Given the description of an element on the screen output the (x, y) to click on. 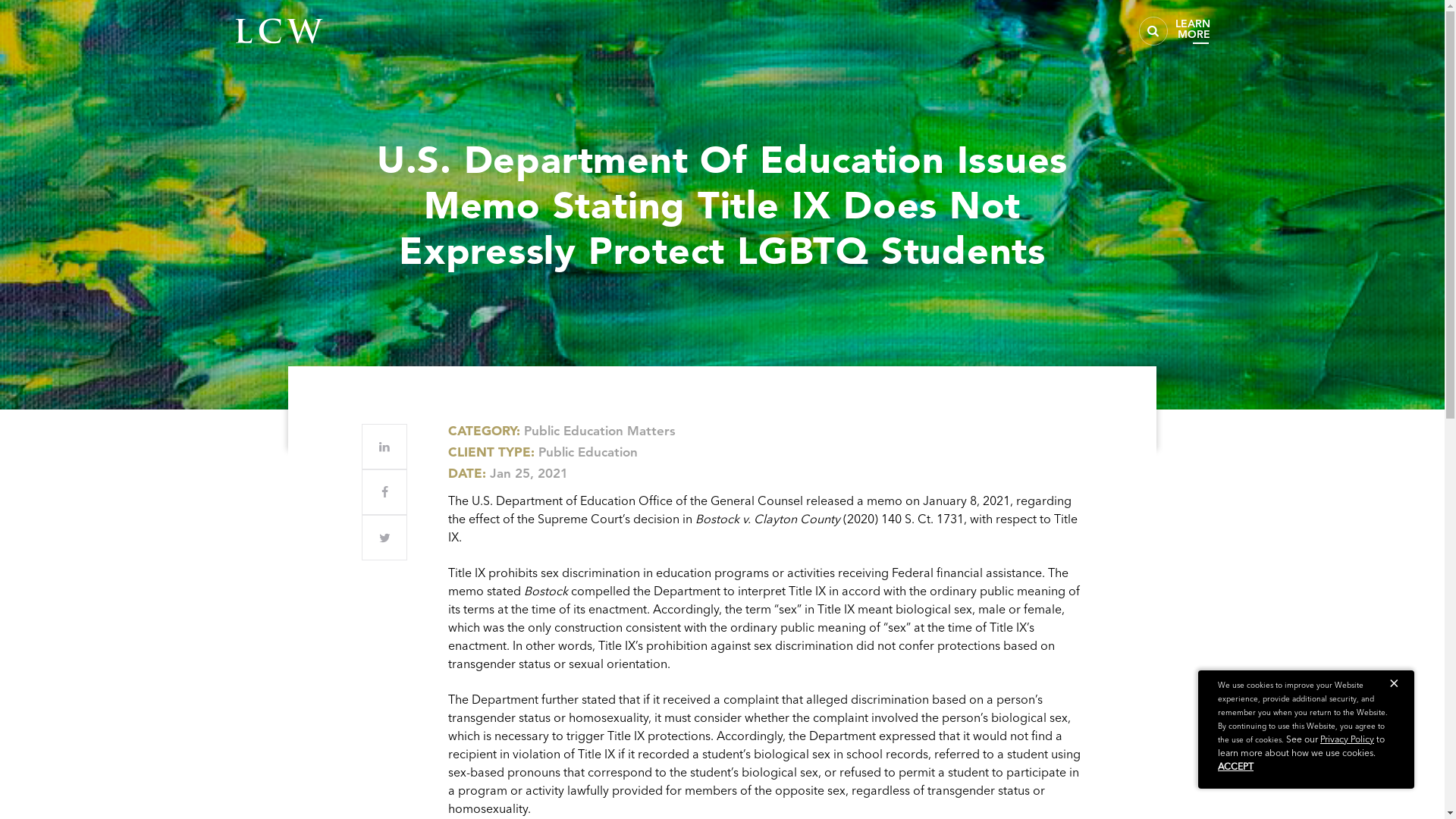
ACCEPT (1235, 766)
Privacy Policy (1347, 738)
